Given the description of an element on the screen output the (x, y) to click on. 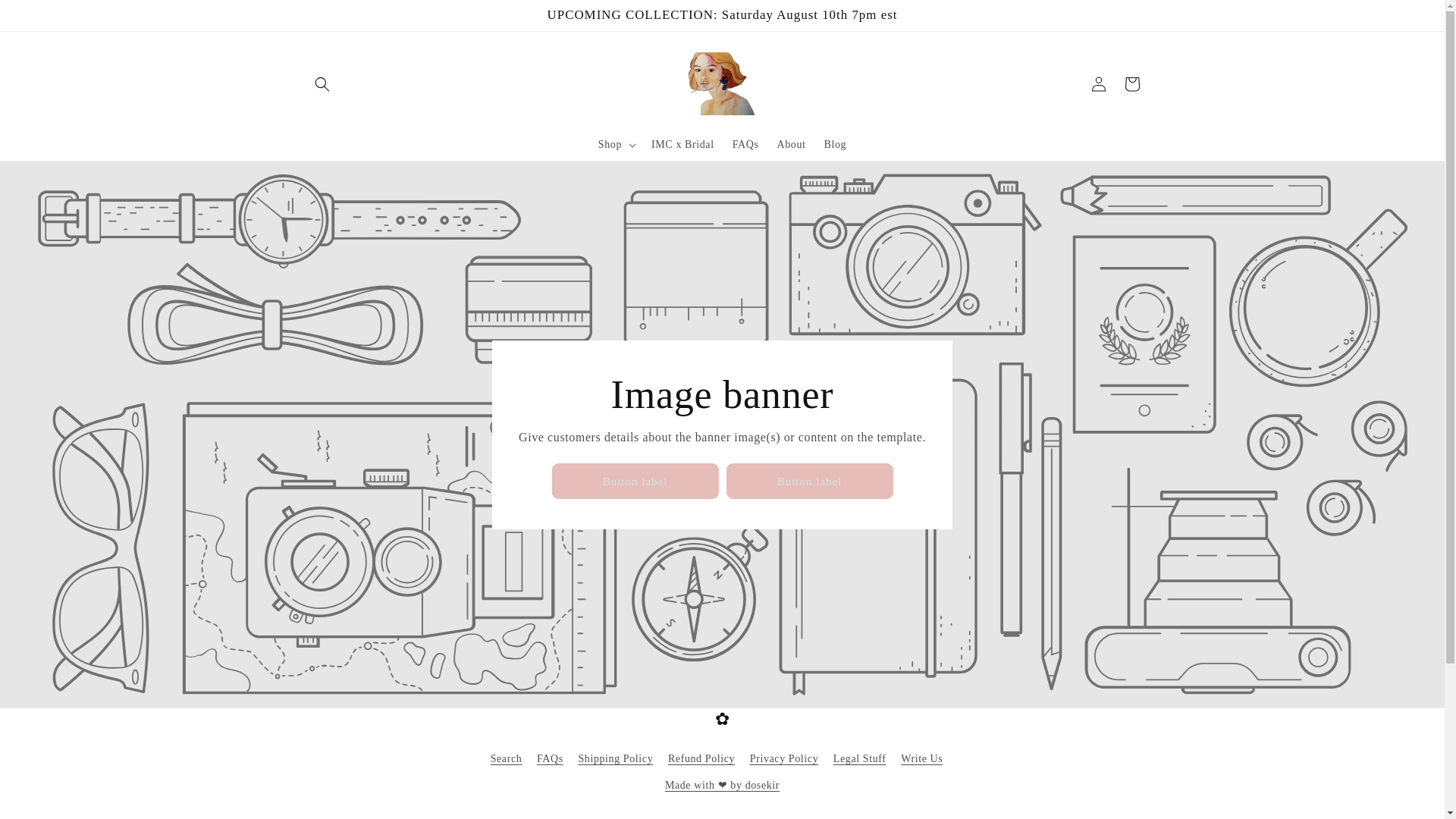
Legal Stuff (859, 758)
Cart (1131, 83)
IMC x Bridal (682, 144)
Log in (1098, 83)
Button label (635, 480)
Shipping Policy (615, 758)
Blog (835, 144)
About (791, 144)
Write Us (921, 758)
Instagram (721, 816)
